Given the description of an element on the screen output the (x, y) to click on. 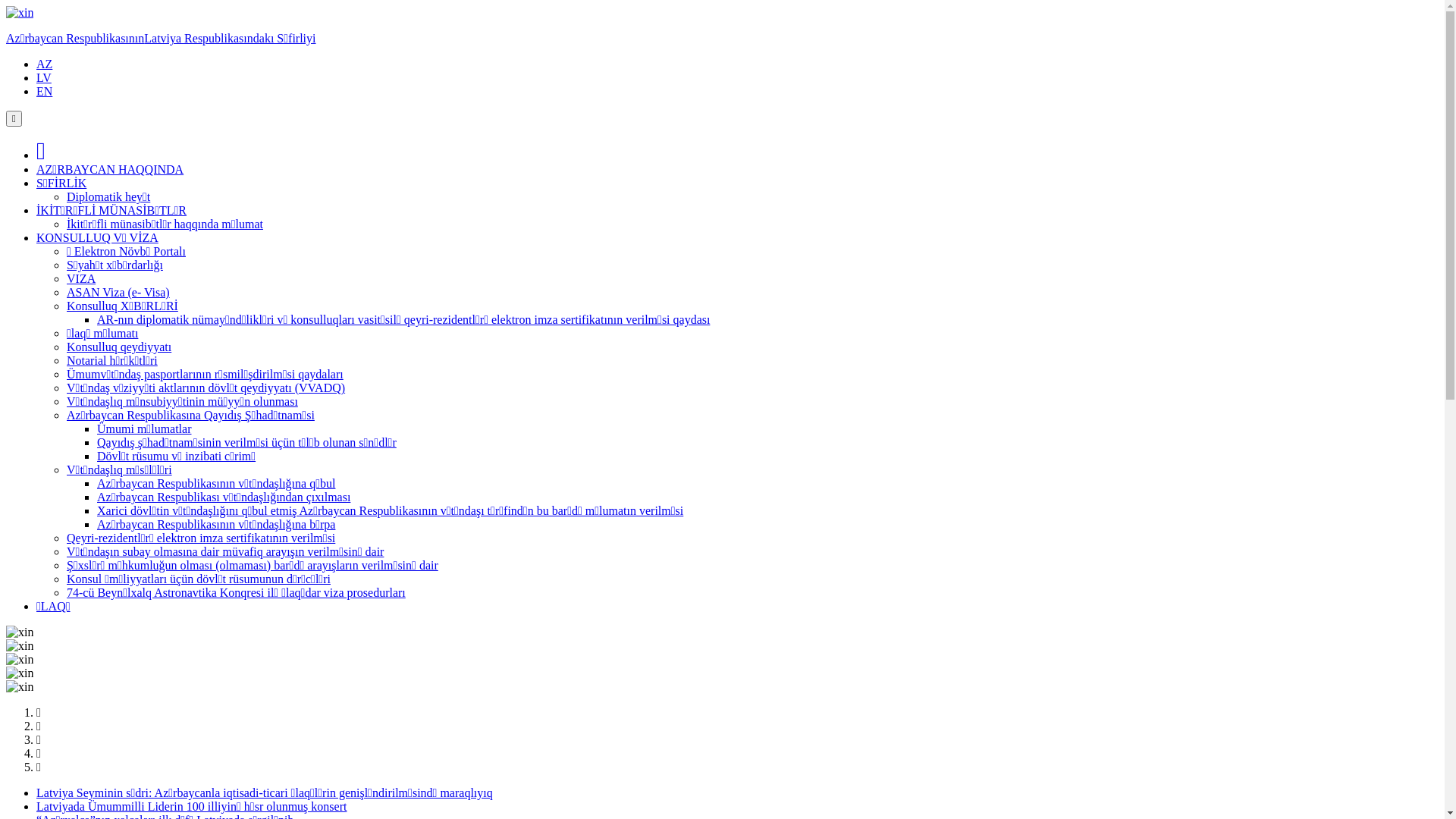
LV Element type: text (43, 77)
AZ Element type: text (44, 63)
EN Element type: text (44, 90)
VIZA Element type: text (80, 278)
ASAN Viza (e- Visa) Element type: text (117, 291)
